Given the description of an element on the screen output the (x, y) to click on. 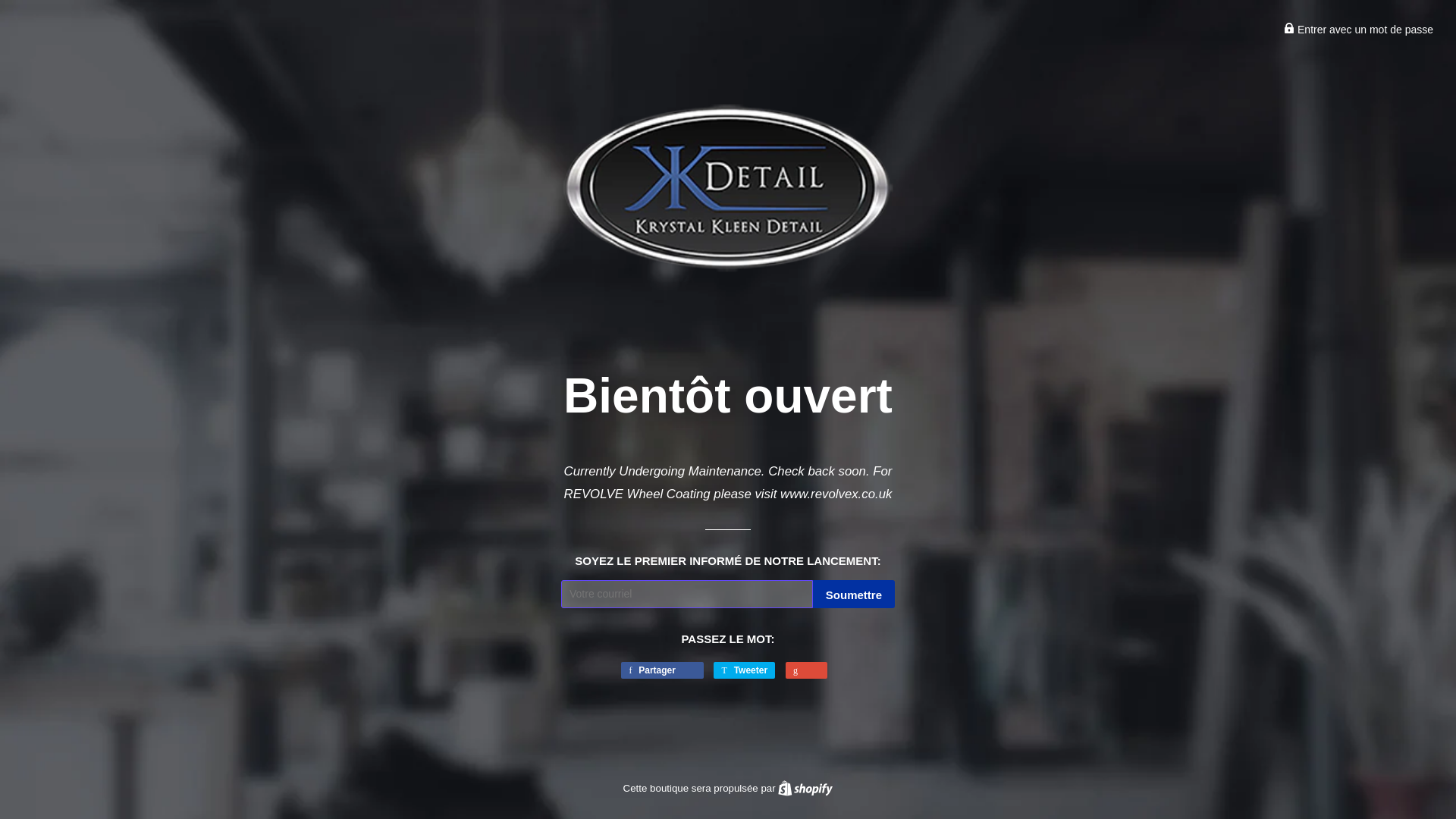
Soumettre (853, 593)
Shopify logo (804, 788)
Lock icon Entrer avec un mot de passe (1358, 29)
Soumettre (804, 787)
Lock icon (853, 593)
Partager (1289, 27)
Create your own online store with Shopify (662, 669)
Tweeter (804, 787)
